Given the description of an element on the screen output the (x, y) to click on. 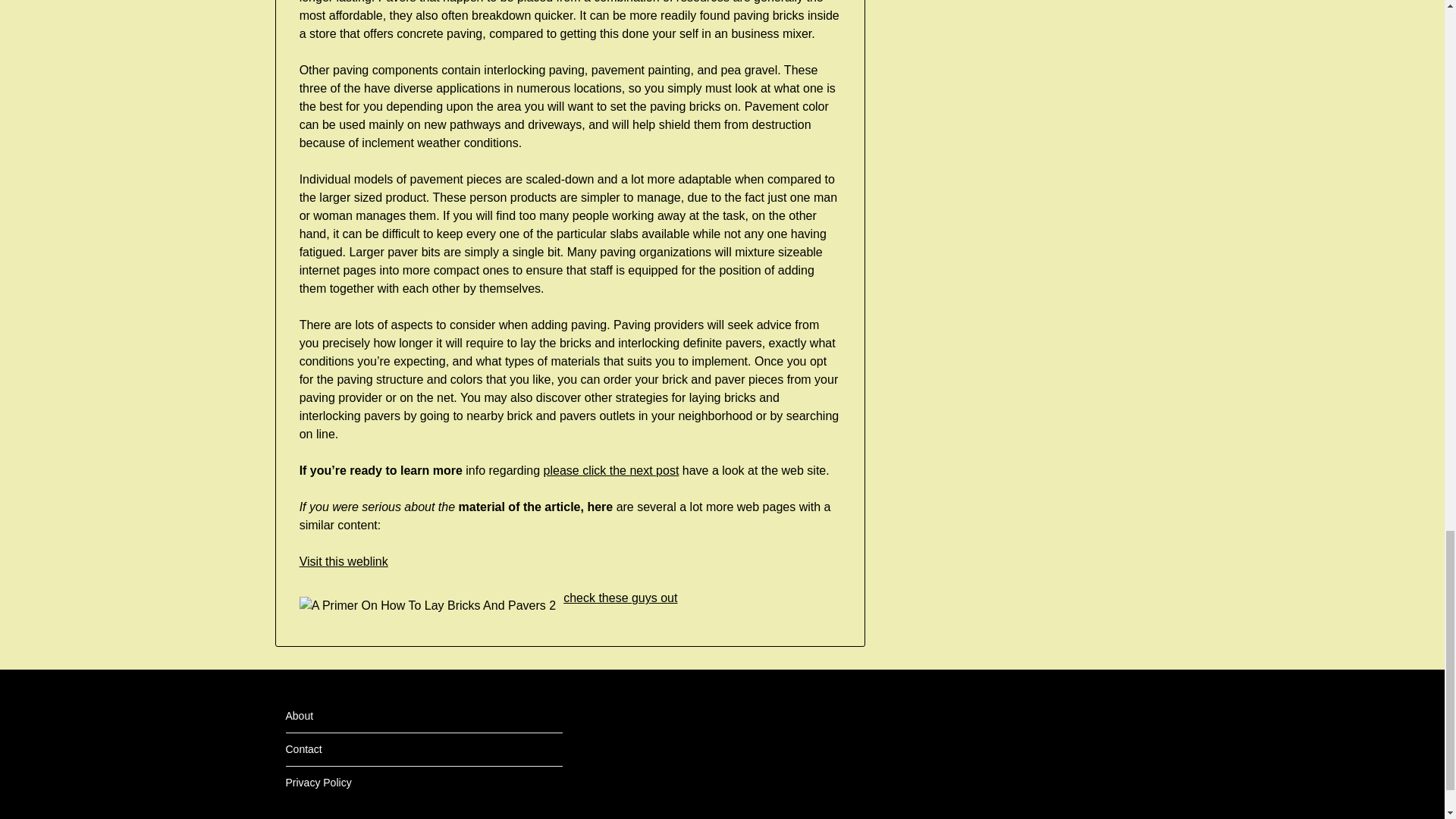
please click the next post (611, 470)
Privacy Policy (317, 782)
Contact (303, 748)
check these guys out (620, 597)
Visit this weblink (343, 561)
About (299, 715)
